Given the description of an element on the screen output the (x, y) to click on. 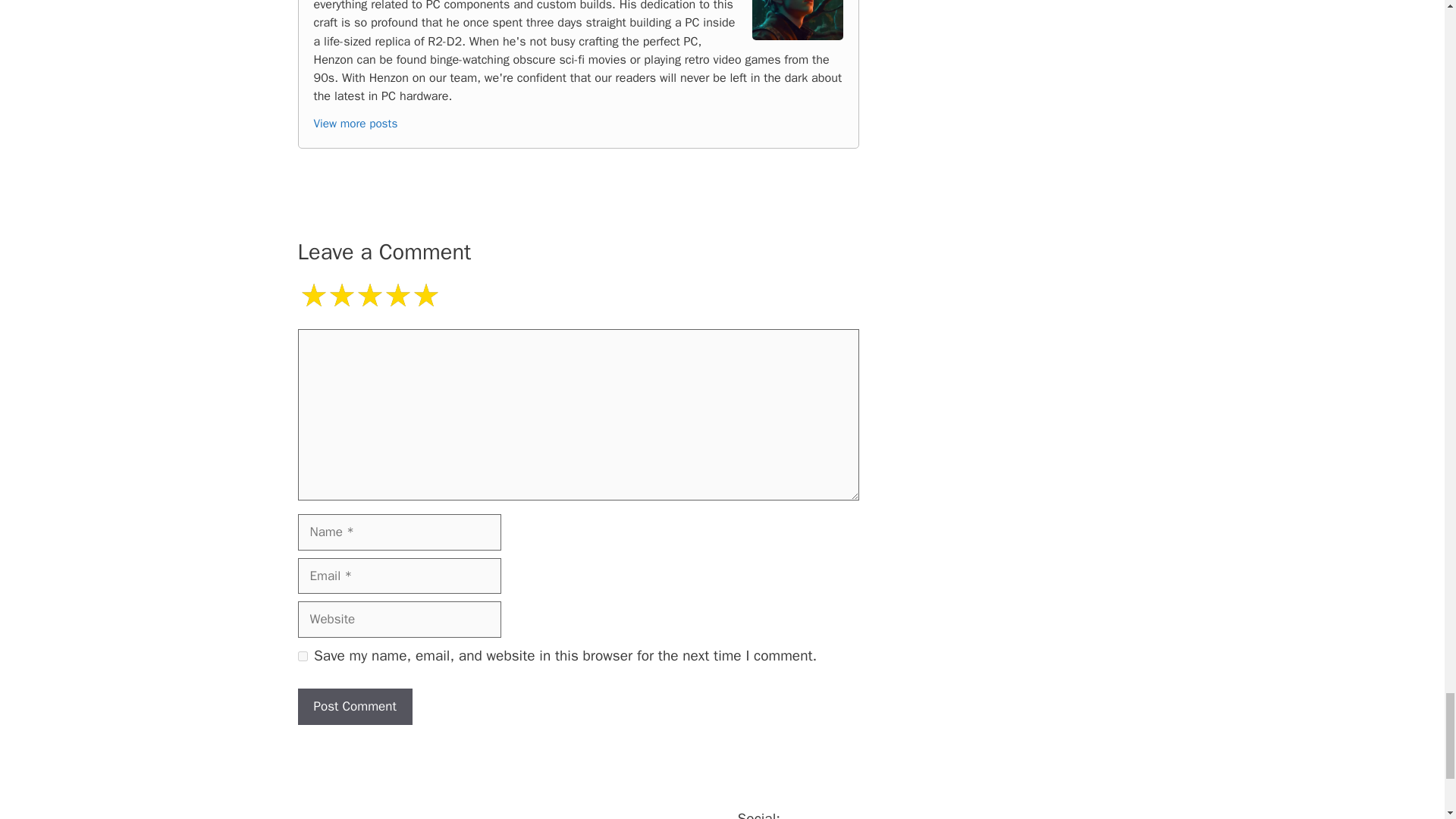
Read more (355, 123)
yes (302, 655)
Post Comment (354, 706)
